Given the description of an element on the screen output the (x, y) to click on. 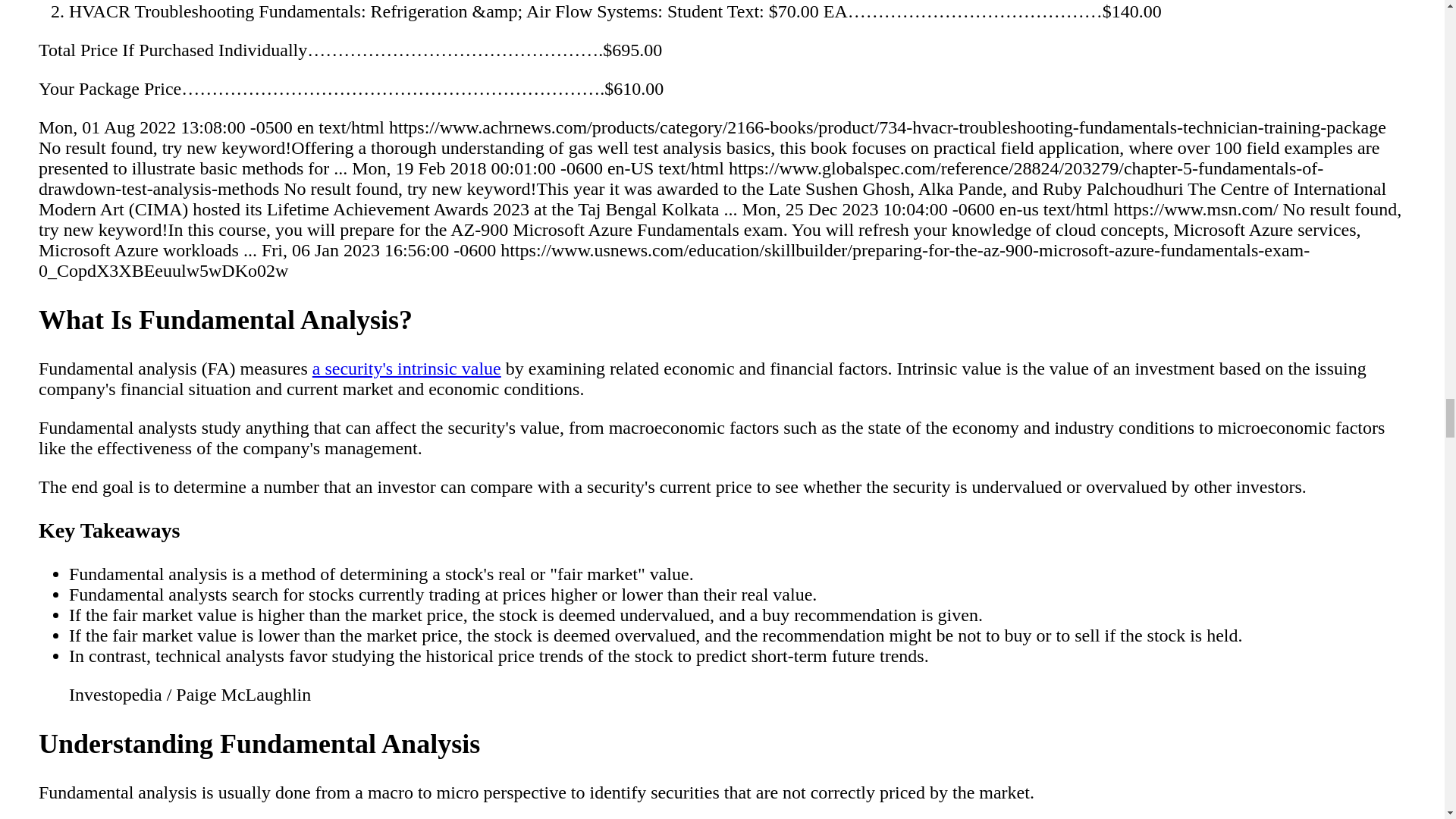
a security's intrinsic value (406, 368)
